Given the description of an element on the screen output the (x, y) to click on. 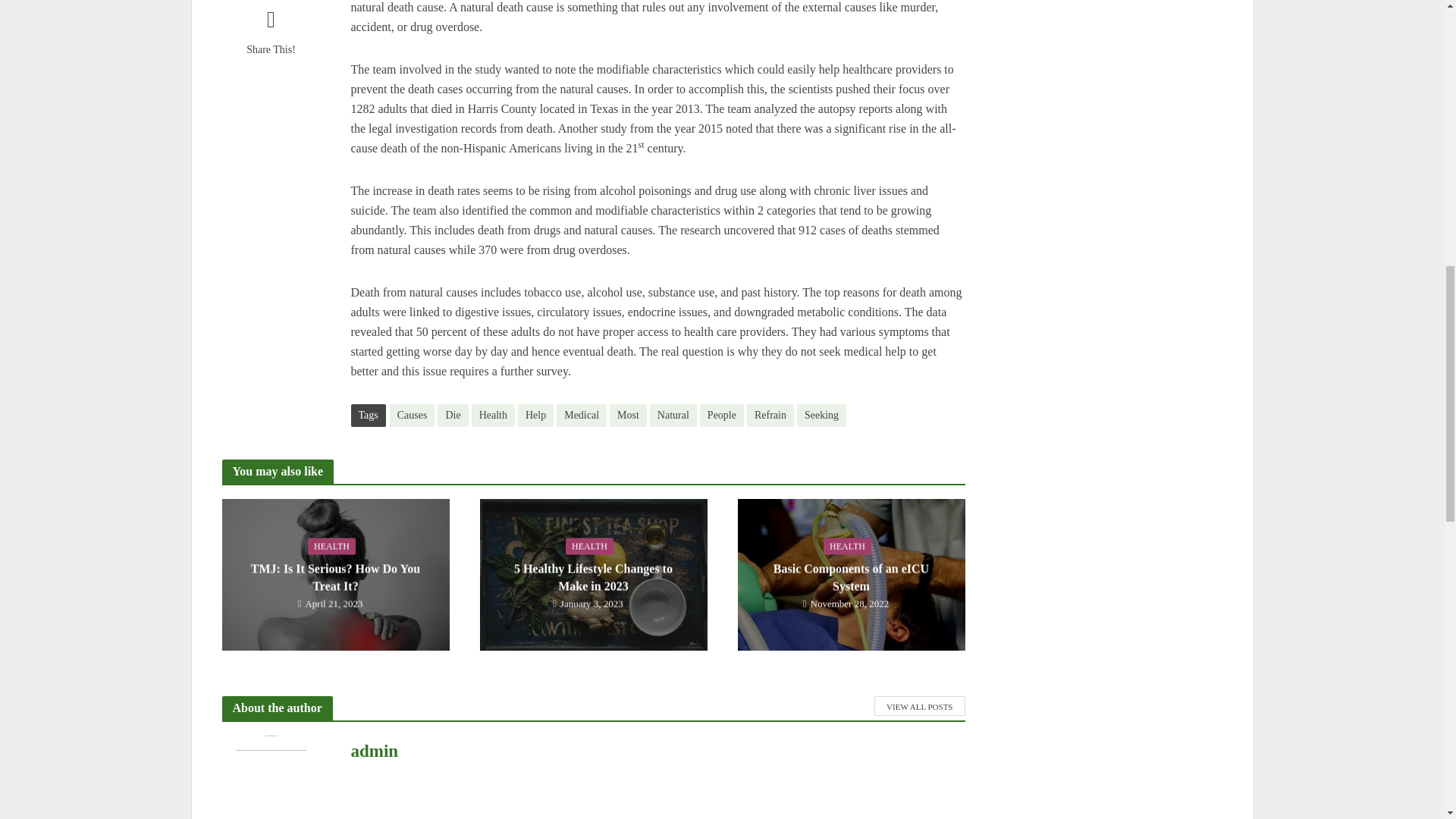
5 Healthy Lifestyle Changes to Make in 2023 (592, 573)
TMJ: Is It Serious? How Do You Treat It? (334, 573)
Basic Components of an eICU System (849, 573)
